Given the description of an element on the screen output the (x, y) to click on. 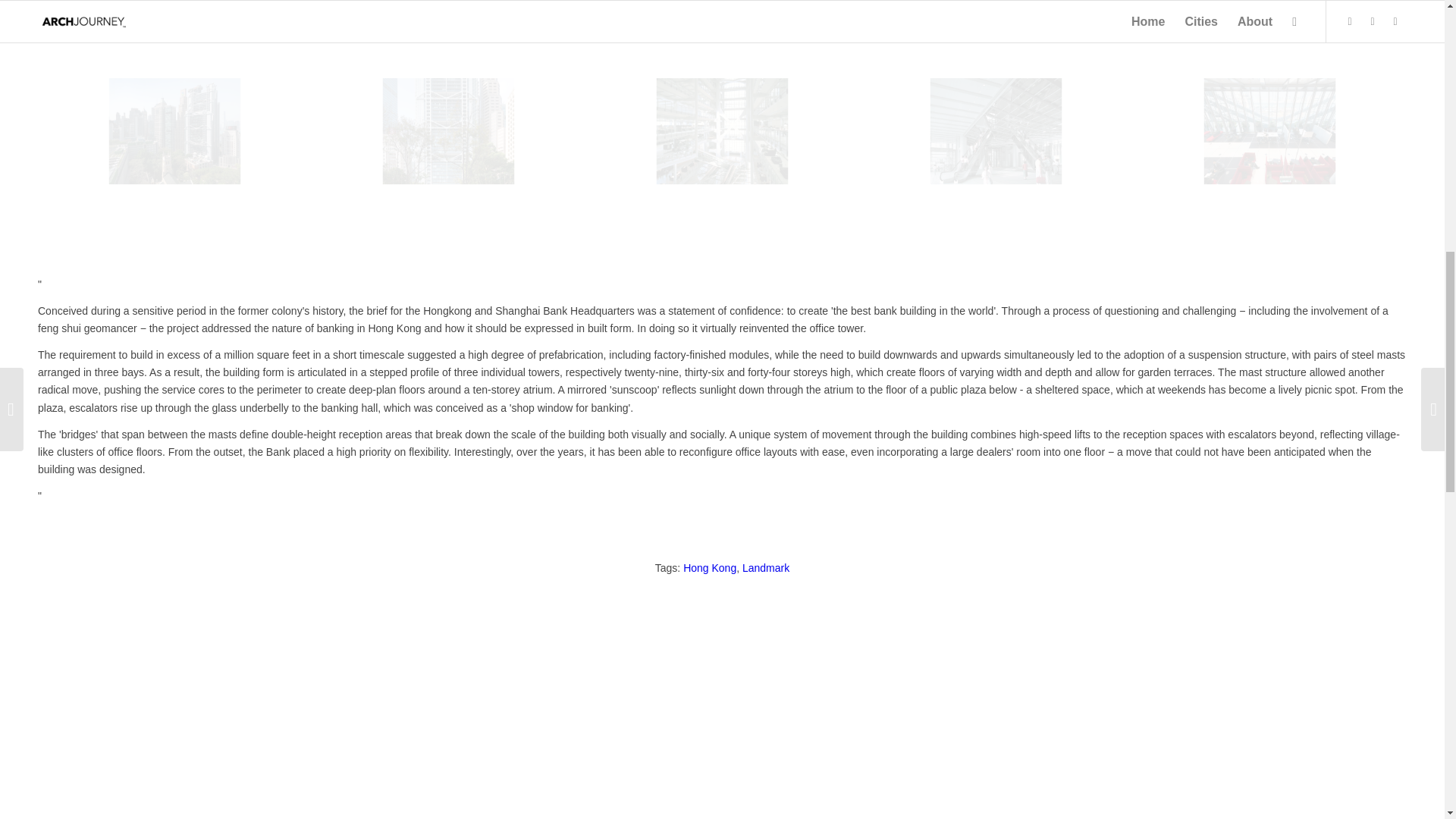
Hong Kong (709, 567)
Ian Lambot (995, 130)
Ian Lambot (722, 130)
Landmark (765, 567)
